Given the description of an element on the screen output the (x, y) to click on. 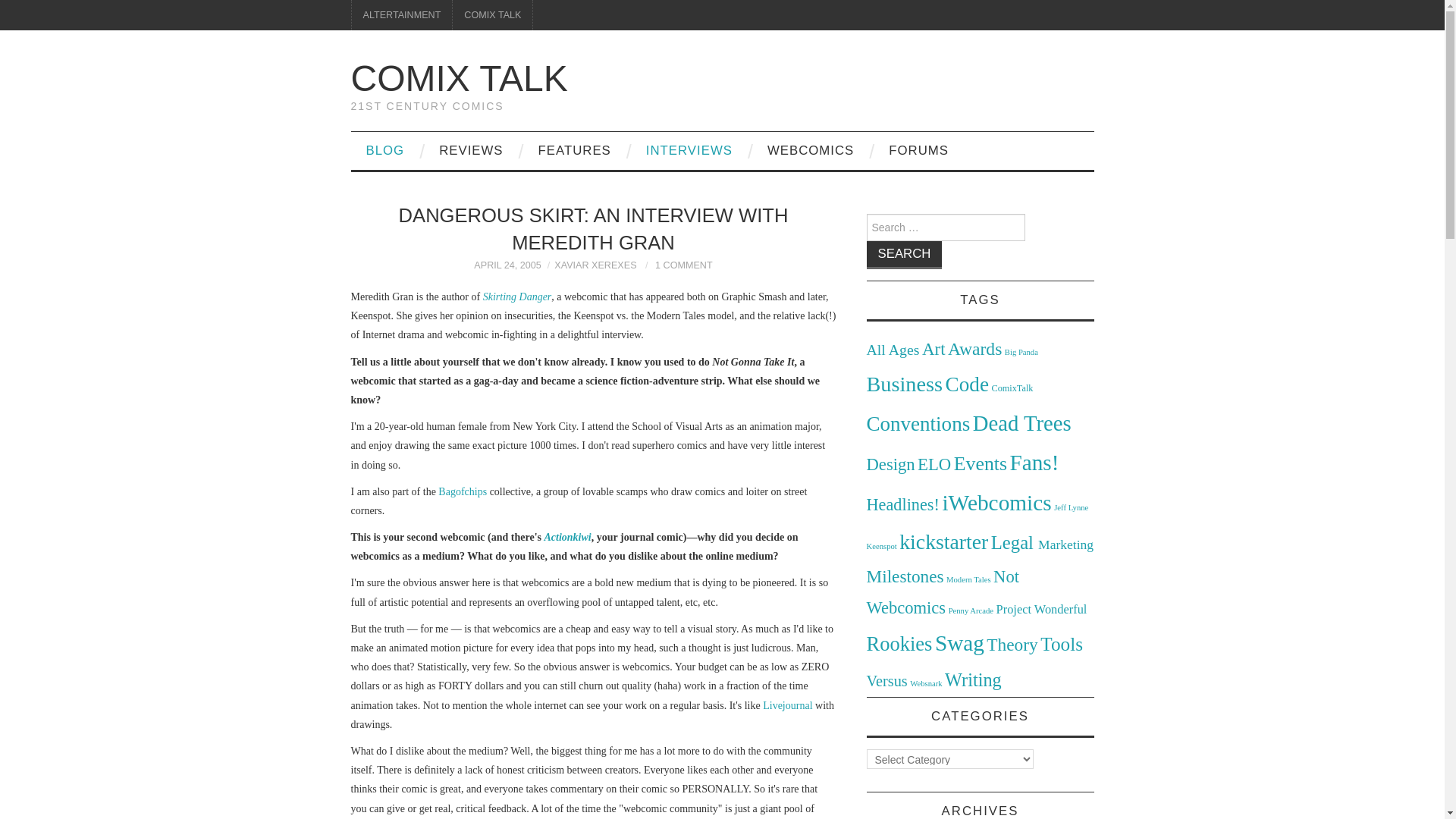
Dead Trees (1021, 422)
Code (966, 384)
COMIX TALK (458, 78)
Big Panda (1021, 352)
Actionkiwi (567, 536)
WEBCOMICS (810, 150)
Search (904, 254)
Design (890, 464)
Search (904, 254)
FORUMS (918, 150)
XAVIAR XEREXES (595, 265)
Conventions (917, 423)
ALTERTAINMENT (402, 15)
Awards (974, 348)
APRIL 24, 2005 (507, 265)
